Given the description of an element on the screen output the (x, y) to click on. 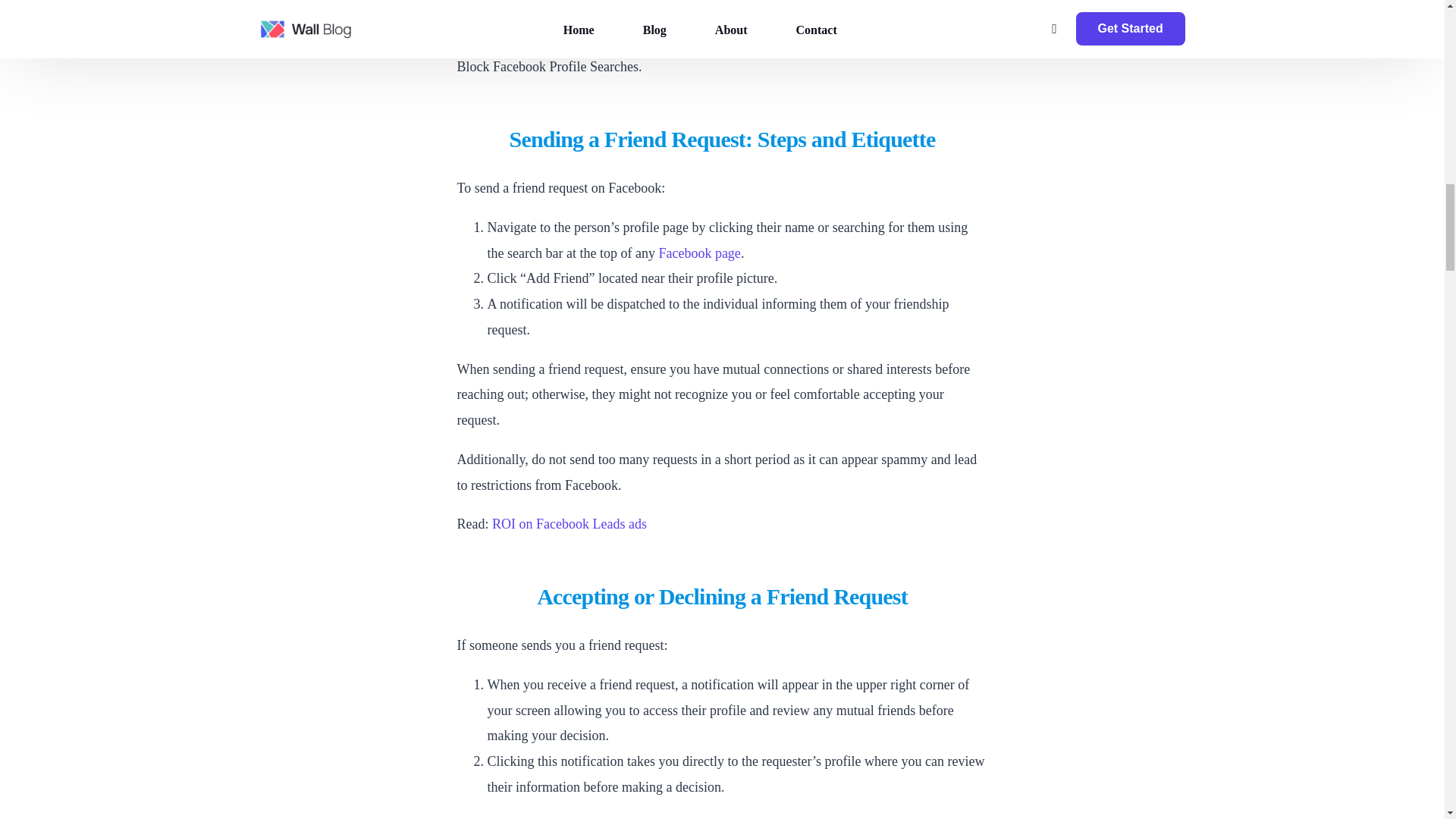
ROI on Facebook Leads ads (569, 523)
Facebook page (698, 253)
requests on Facebook (893, 4)
